Given the description of an element on the screen output the (x, y) to click on. 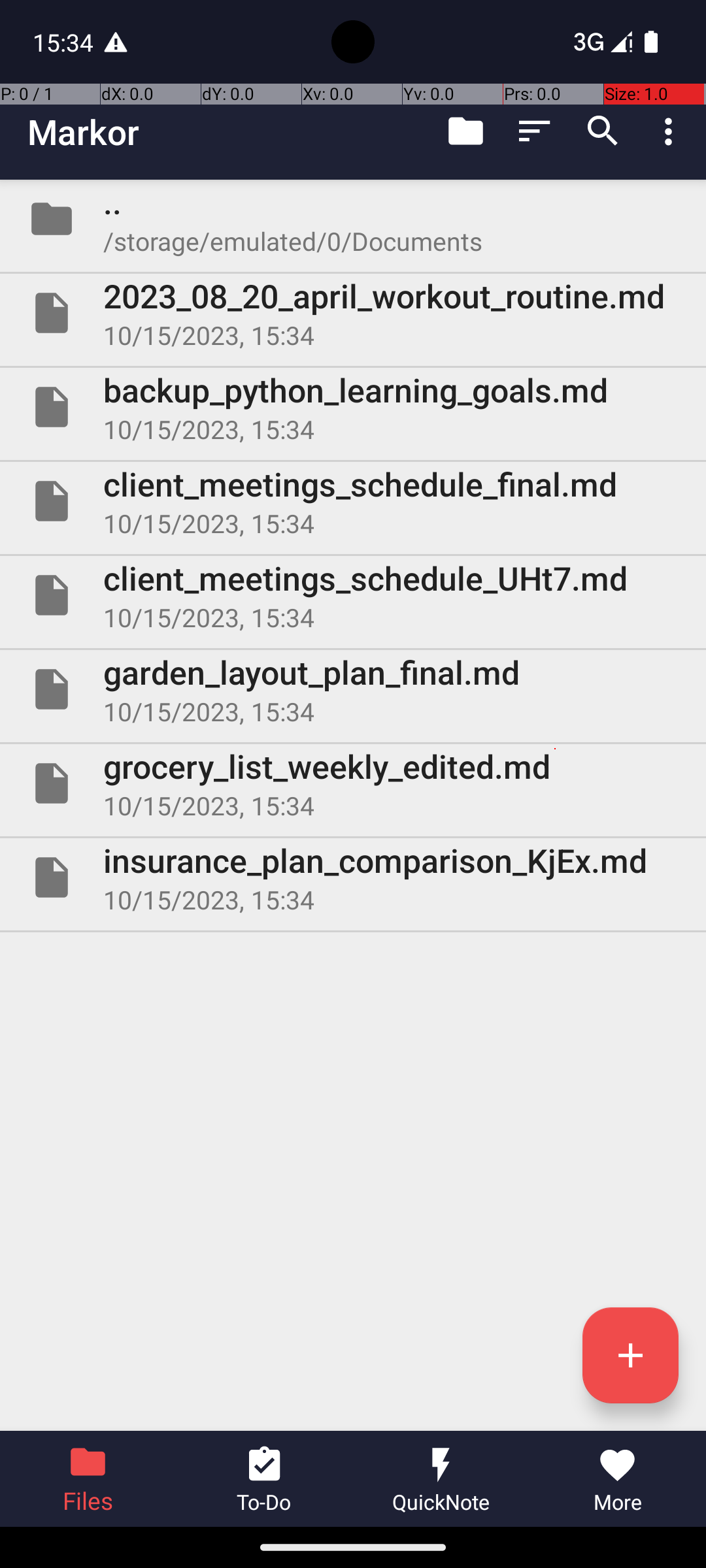
File 2023_08_20_april_workout_routine.md  Element type: android.widget.LinearLayout (353, 312)
File backup_python_learning_goals.md  Element type: android.widget.LinearLayout (353, 406)
File client_meetings_schedule_final.md  Element type: android.widget.LinearLayout (353, 500)
File client_meetings_schedule_UHt7.md  Element type: android.widget.LinearLayout (353, 594)
File garden_layout_plan_final.md  Element type: android.widget.LinearLayout (353, 689)
File grocery_list_weekly_edited.md  Element type: android.widget.LinearLayout (353, 783)
File insurance_plan_comparison_KjEx.md  Element type: android.widget.LinearLayout (353, 877)
